Given the description of an element on the screen output the (x, y) to click on. 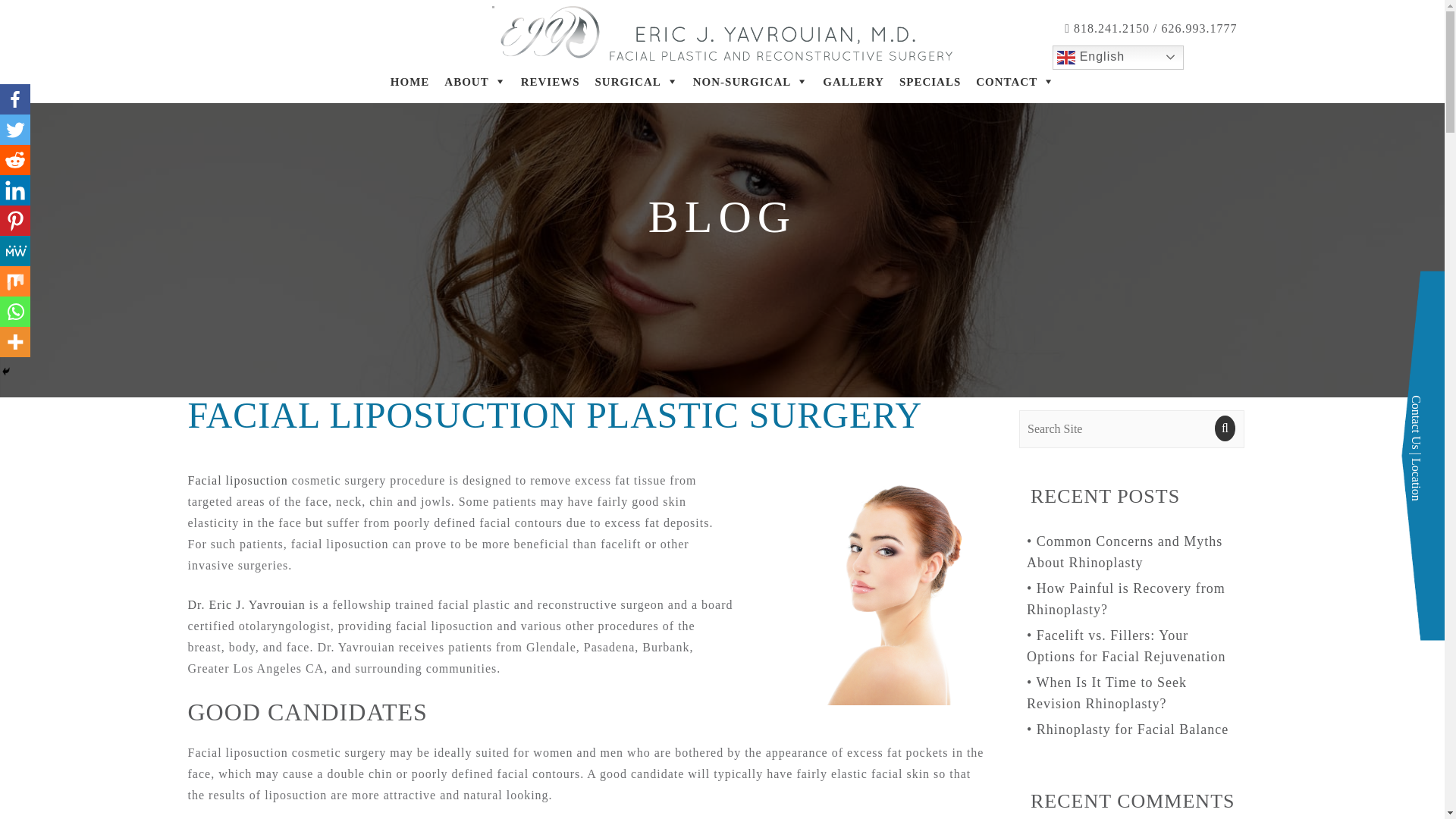
626.993.1777 (1199, 28)
SURGICAL (636, 81)
HOME (410, 81)
ABOUT (474, 81)
REVIEWS (550, 81)
NON-SURGICAL (750, 81)
818.241.2150 (1110, 28)
English (1117, 57)
